Given the description of an element on the screen output the (x, y) to click on. 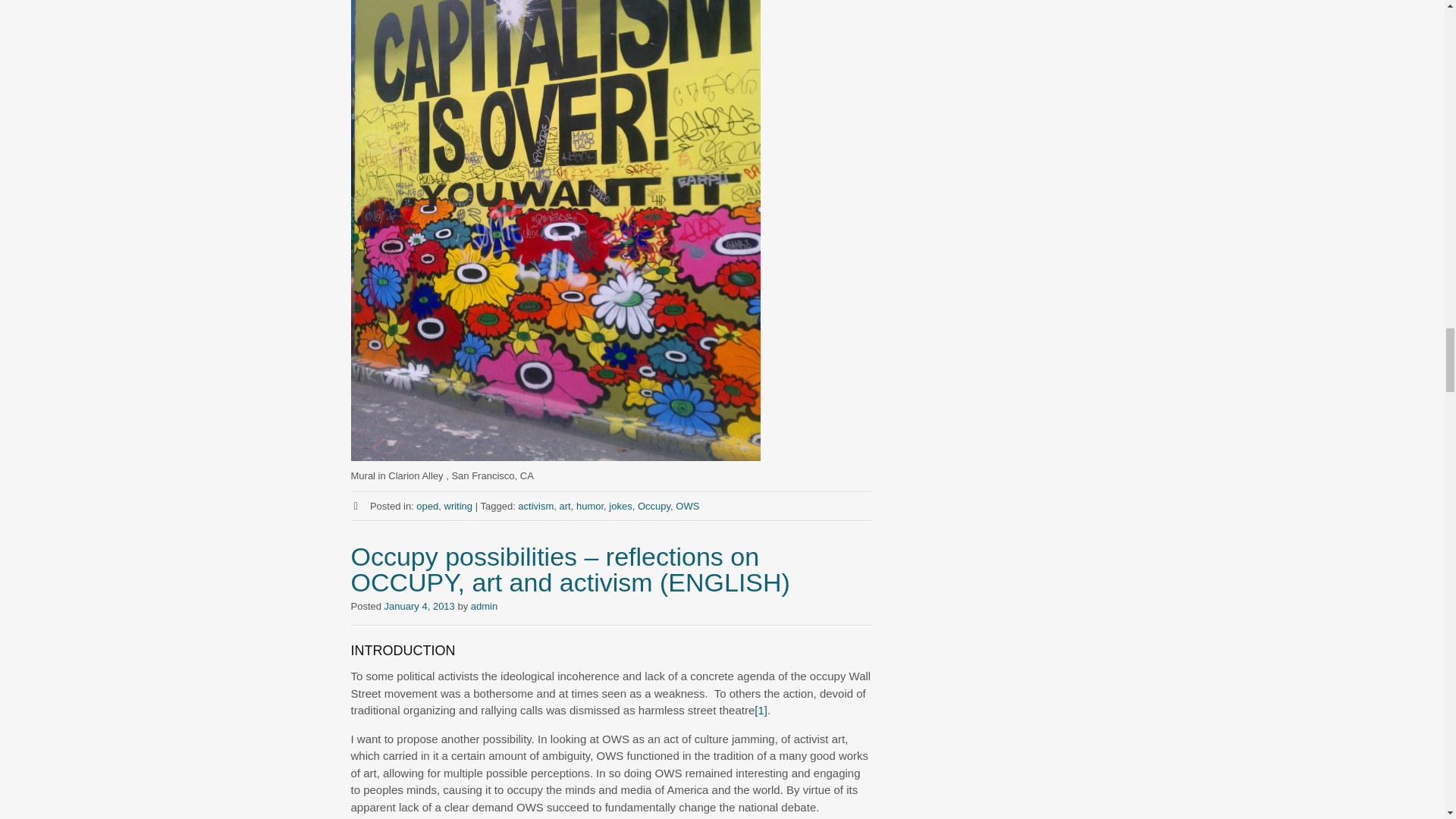
View all posts by admin (483, 605)
OWS (686, 505)
Occupy (653, 505)
art (564, 505)
admin (483, 605)
activism (535, 505)
writing (458, 505)
humor (590, 505)
oped (427, 505)
jokes (619, 505)
January 4, 2013 (419, 605)
